Given the description of an element on the screen output the (x, y) to click on. 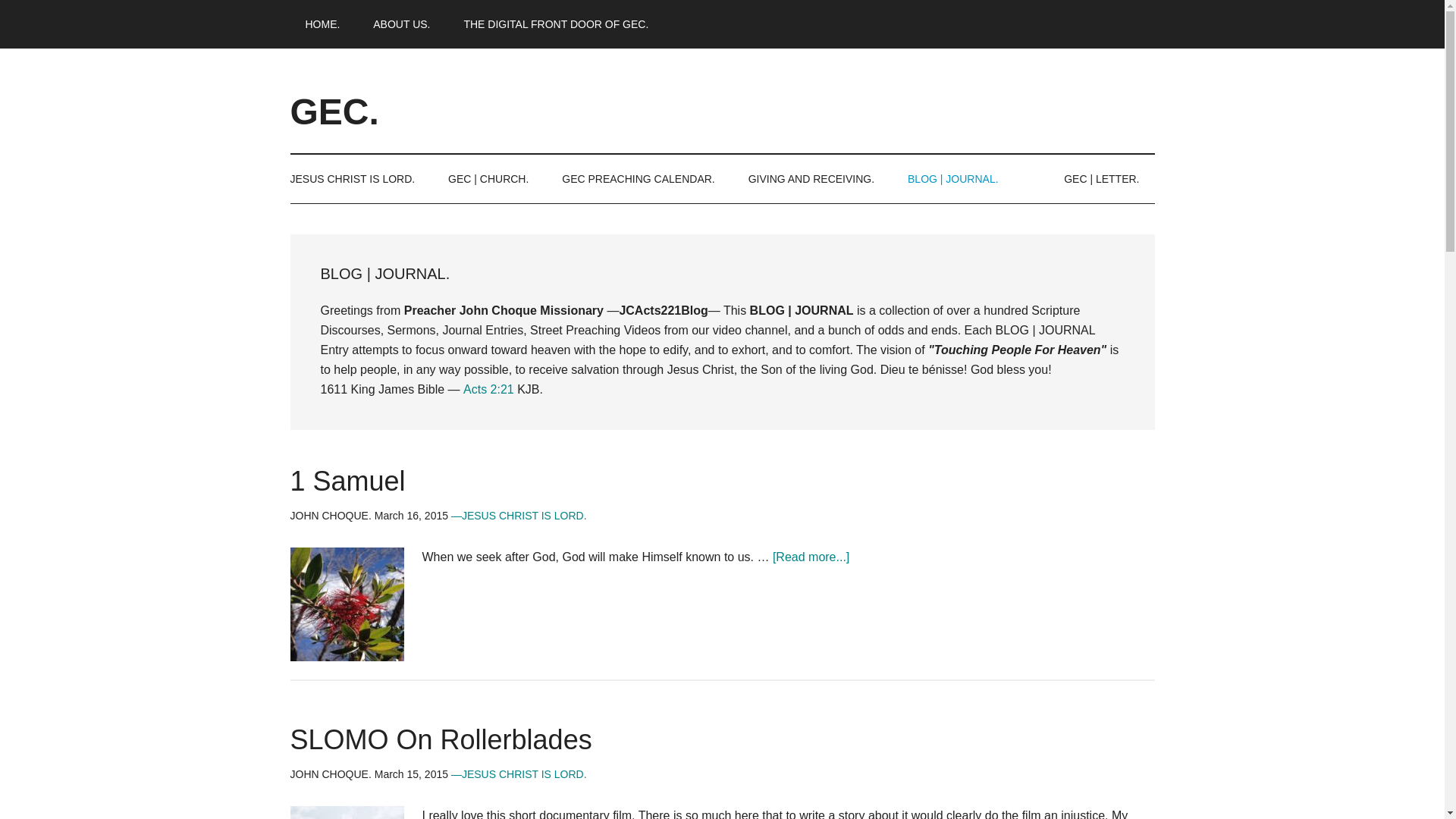
SIMPLE. (401, 24)
ABOUT US. (401, 24)
JESUS SAVES. (359, 178)
GEC PREACHING CALENDAR. (638, 178)
THE DIGITAL FRONT DOOR OF GEC. (555, 24)
HOME. (322, 24)
JESUS CHRIST IS LORD. (359, 178)
GOSPEL EVANGELIST CHURCH. (555, 24)
GEC. (333, 111)
PAGE ONE. (322, 24)
